Given the description of an element on the screen output the (x, y) to click on. 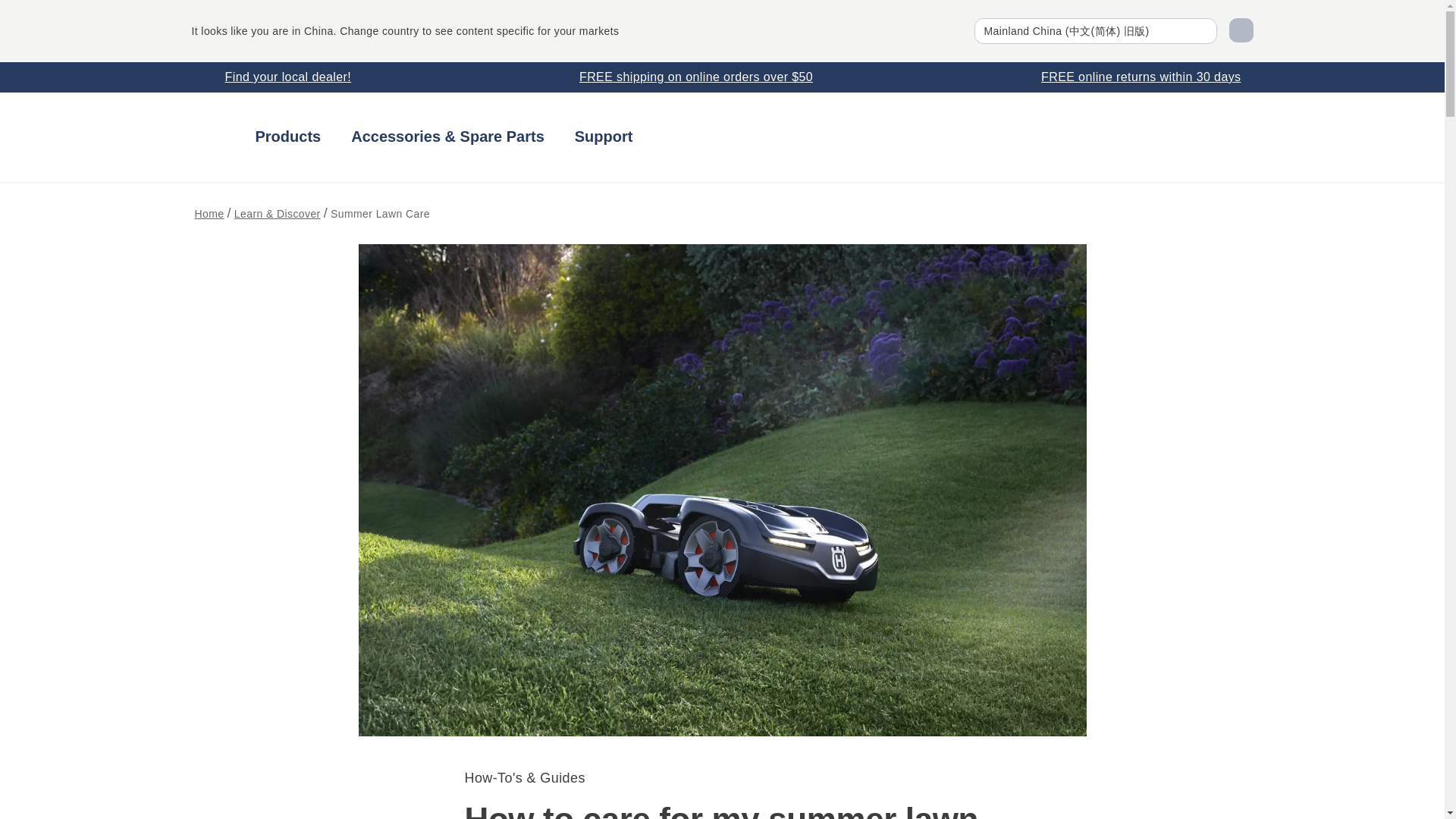
Support (604, 136)
FREE online returns within 30 days (1130, 77)
Find your local dealer! (276, 77)
Products (287, 136)
